Given the description of an element on the screen output the (x, y) to click on. 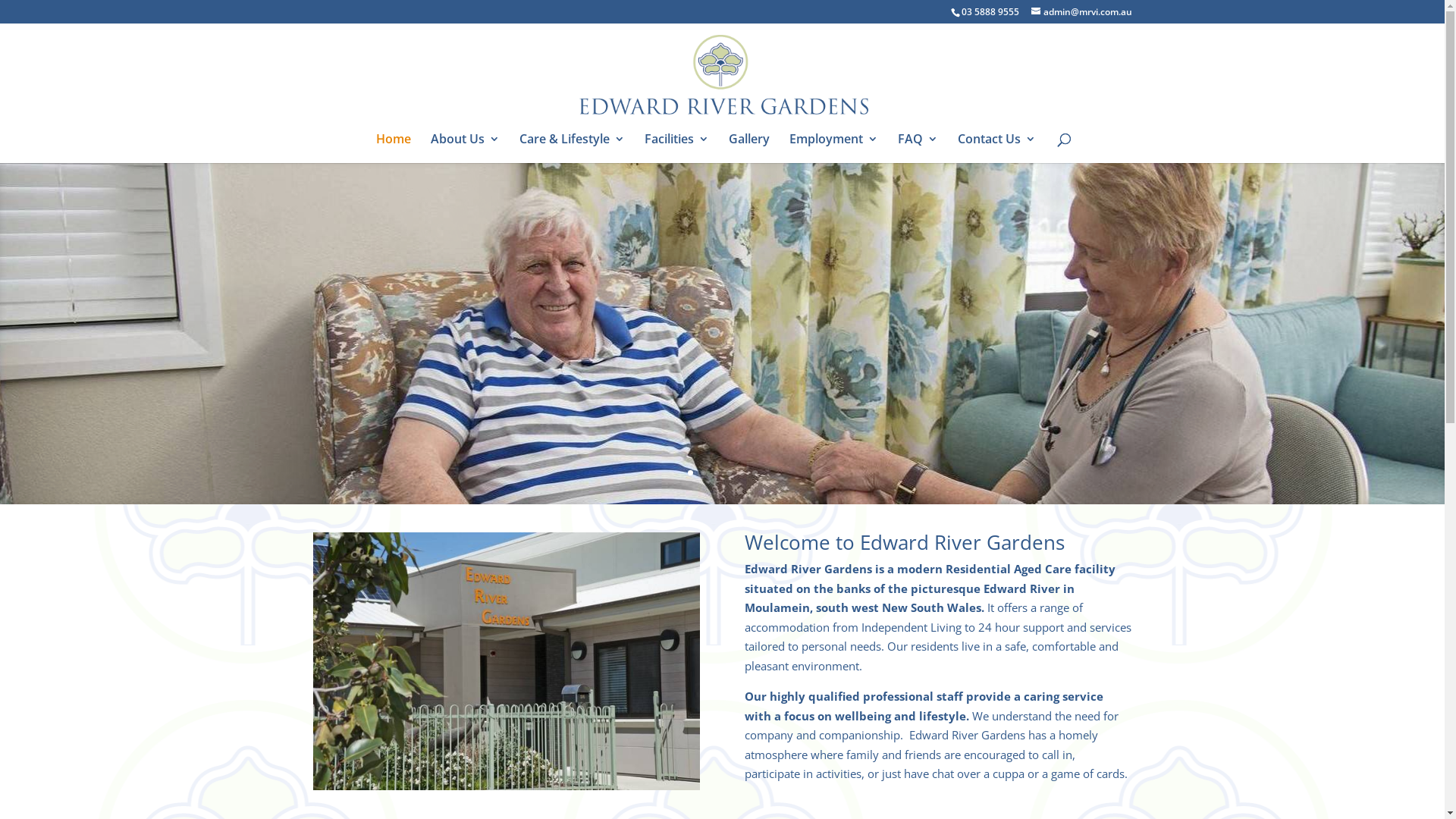
1 Element type: text (689, 472)
Care & Lifestyle Element type: text (571, 148)
4 Element type: text (728, 472)
Facilities Element type: text (676, 148)
6 Element type: text (754, 472)
Gallery Element type: text (748, 148)
Contact Us Element type: text (996, 148)
03 5888 9555 Element type: text (989, 11)
2 Element type: text (703, 472)
FAQ Element type: text (917, 148)
admin@mrvi.com.au Element type: text (1081, 11)
About Us Element type: text (464, 148)
3 Element type: text (715, 472)
Edward River Gardens Element type: hover (505, 661)
Employment Element type: text (832, 148)
Home Element type: text (393, 148)
5 Element type: text (740, 472)
